Given the description of an element on the screen output the (x, y) to click on. 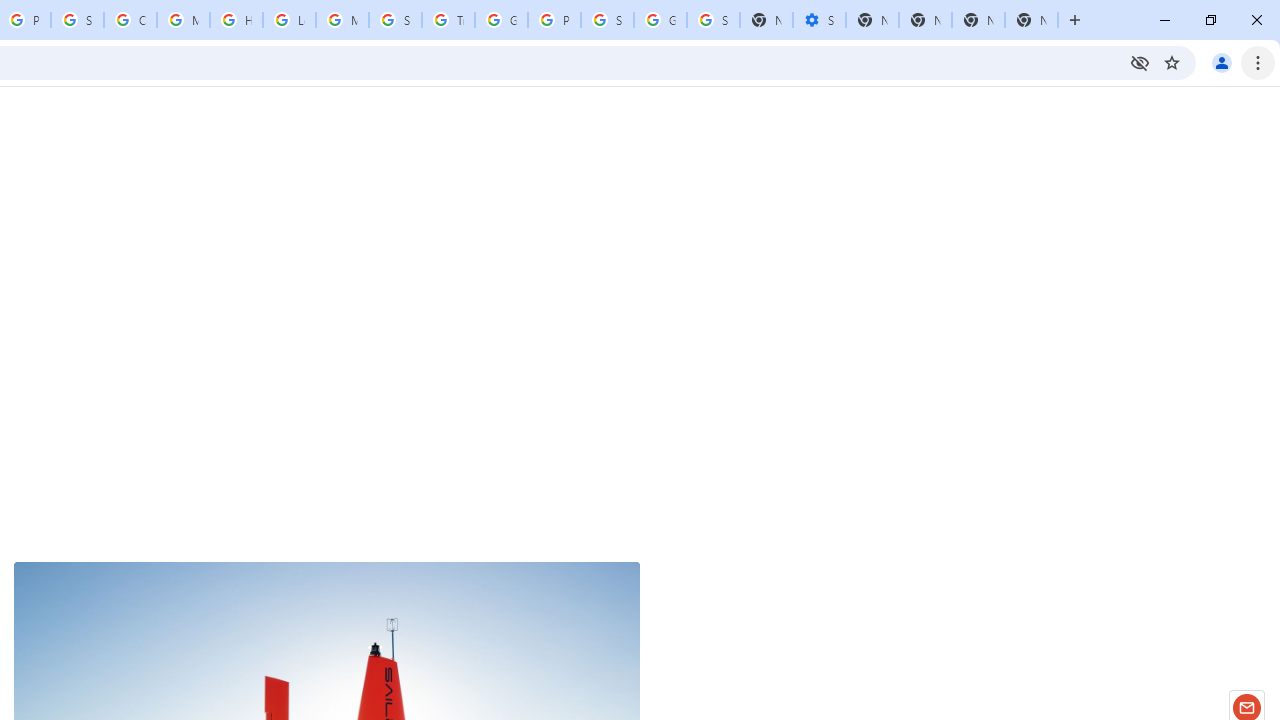
Search our Doodle Library Collection - Google Doodles (395, 20)
New Tab (1031, 20)
Google Ads - Sign in (501, 20)
Google Cybersecurity Innovations - Google Safety Center (660, 20)
